Given the description of an element on the screen output the (x, y) to click on. 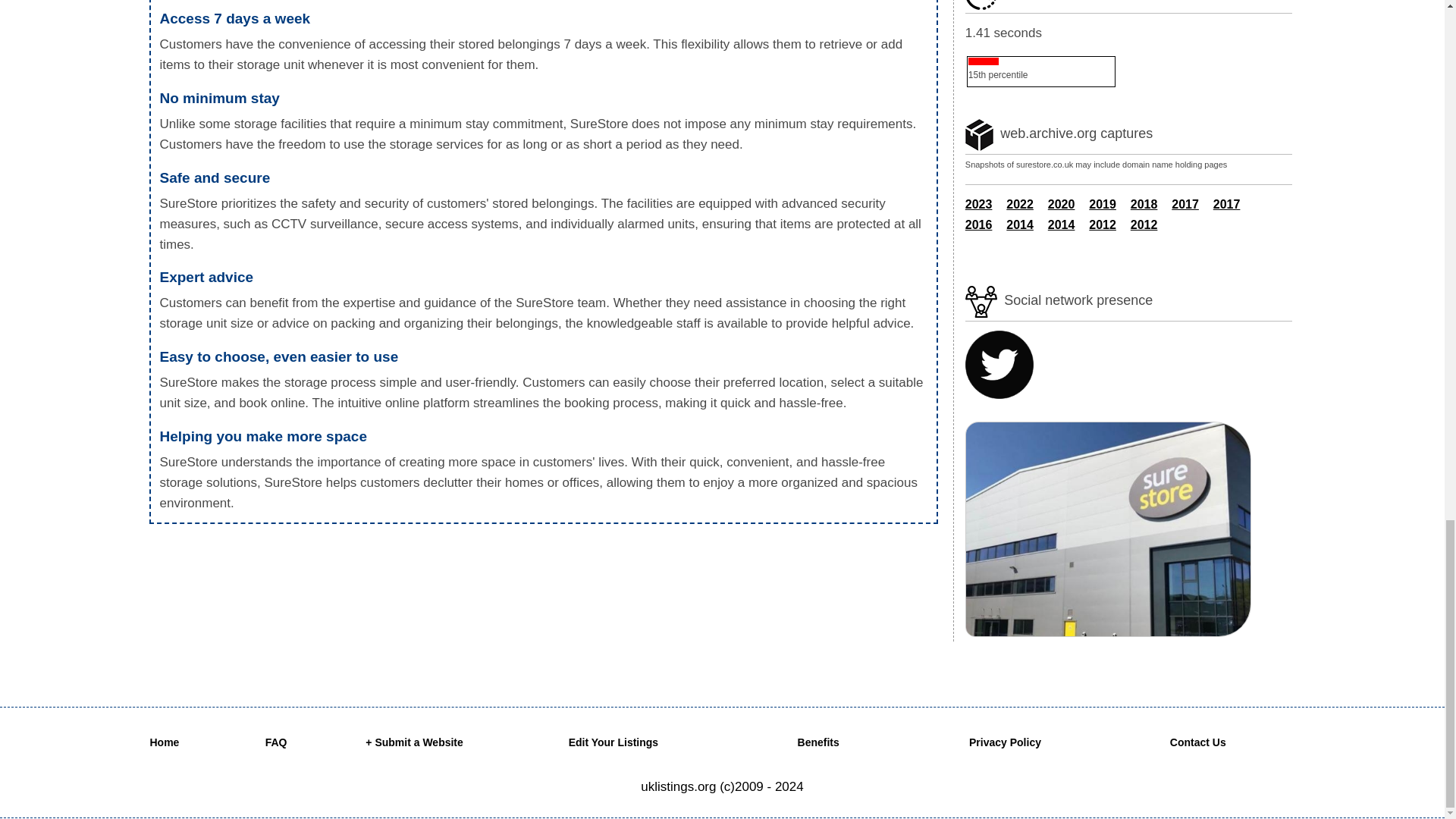
FAQ (275, 742)
2014 (1061, 224)
2017 (1185, 204)
2019 (1102, 204)
2017 (1226, 204)
2012 (1144, 224)
2020 (1061, 204)
Home (164, 742)
2023 (978, 204)
Edit Your Listings (614, 742)
2022 (1019, 204)
2012 (1102, 224)
2014 (1019, 224)
2018 (1144, 204)
2016 (978, 224)
